Given the description of an element on the screen output the (x, y) to click on. 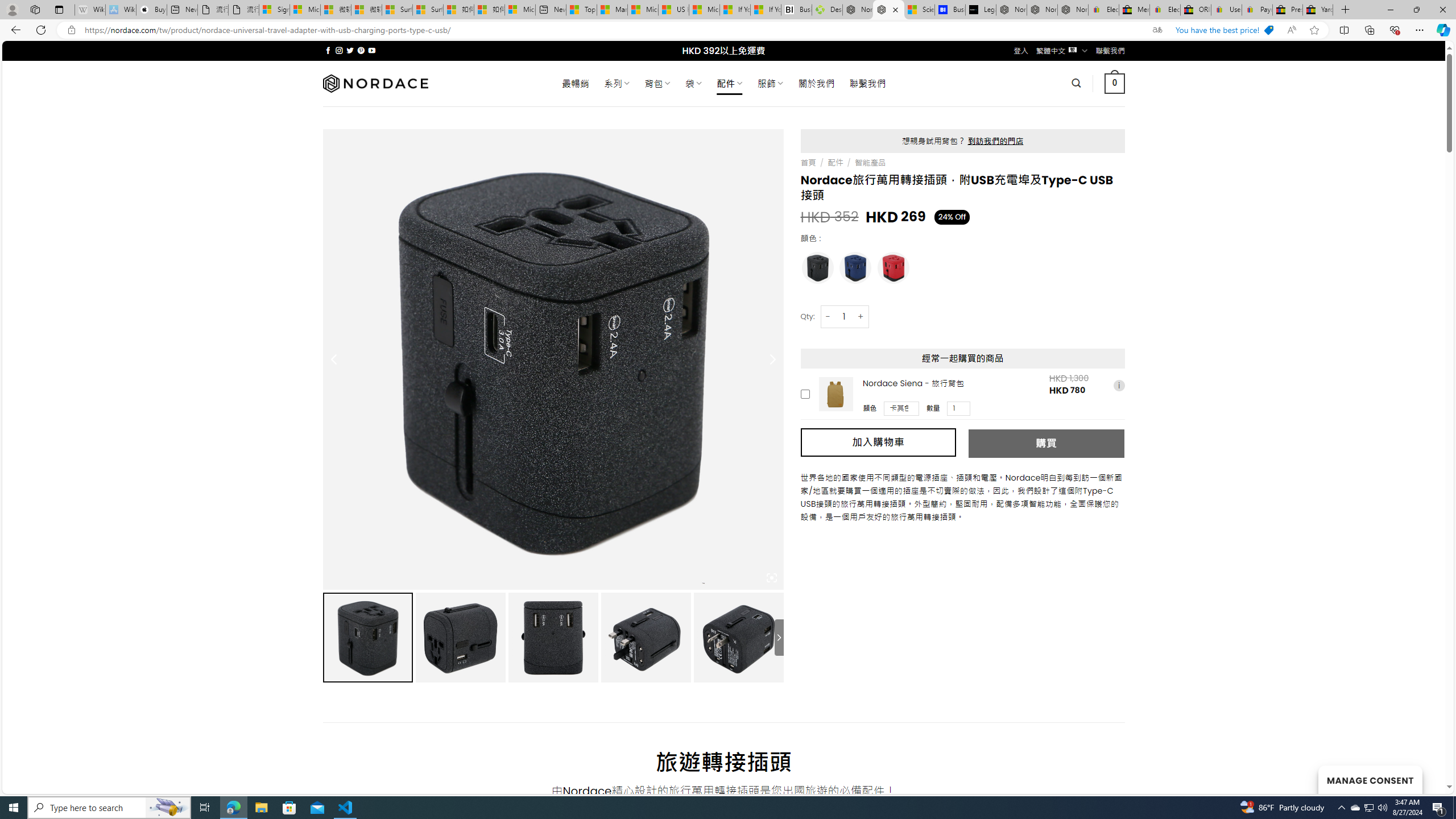
Follow on YouTube (371, 50)
+ (861, 316)
  0   (1115, 83)
Follow on Facebook (327, 50)
Buy iPad - Apple (151, 9)
